Given the description of an element on the screen output the (x, y) to click on. 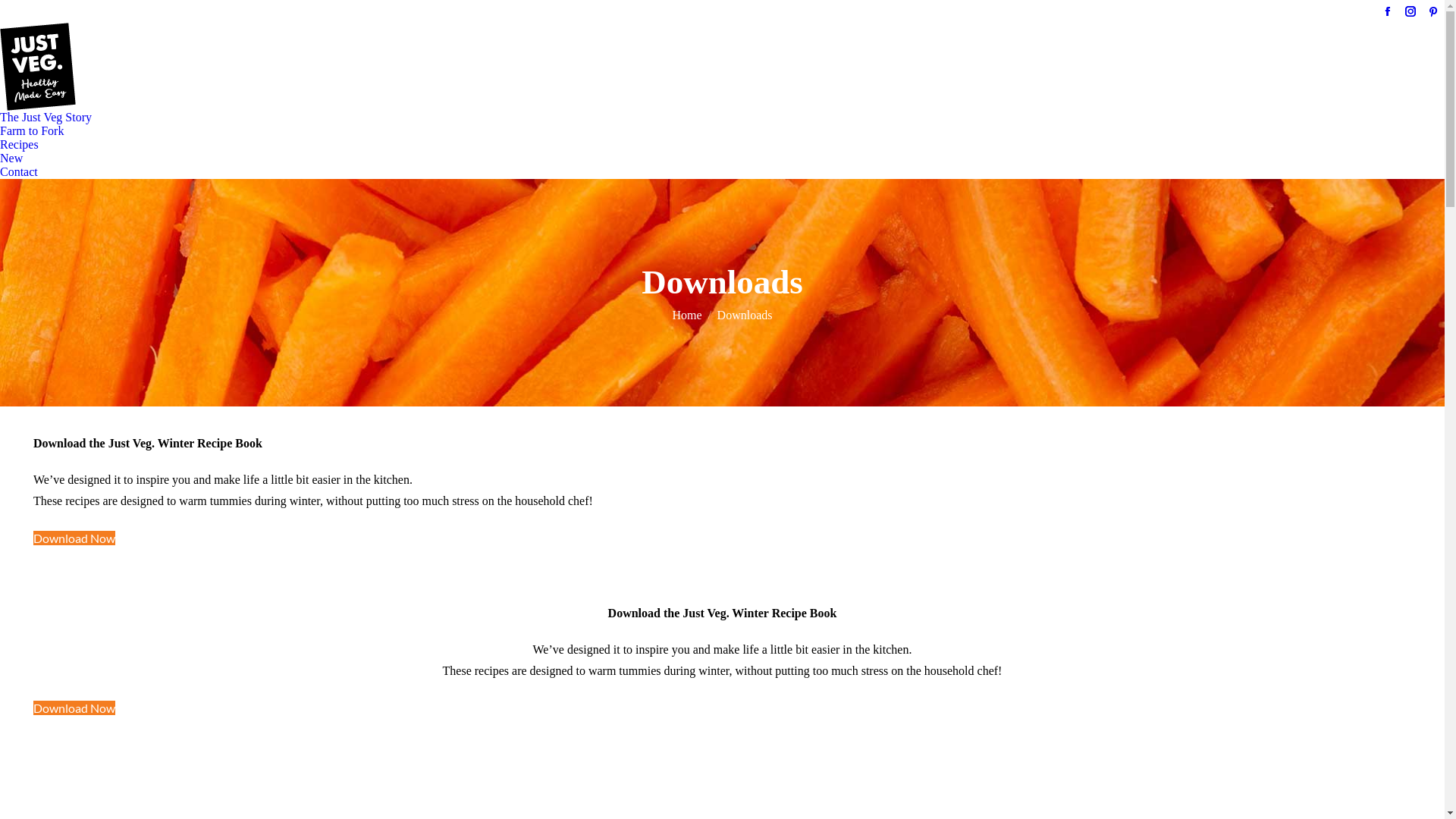
Instagram page opens in new window Element type: text (1410, 11)
Recipes Element type: text (19, 144)
Contact Element type: text (18, 171)
Farm to Fork Element type: text (31, 131)
Download Now Element type: text (74, 537)
Home Element type: text (686, 314)
Download Now Element type: text (74, 708)
The Just Veg Story Element type: text (45, 117)
Facebook page opens in new window Element type: text (1387, 11)
New Element type: text (11, 158)
Download Now Element type: text (74, 707)
Pinterest page opens in new window Element type: text (1433, 11)
Download Now Element type: text (74, 538)
